Given the description of an element on the screen output the (x, y) to click on. 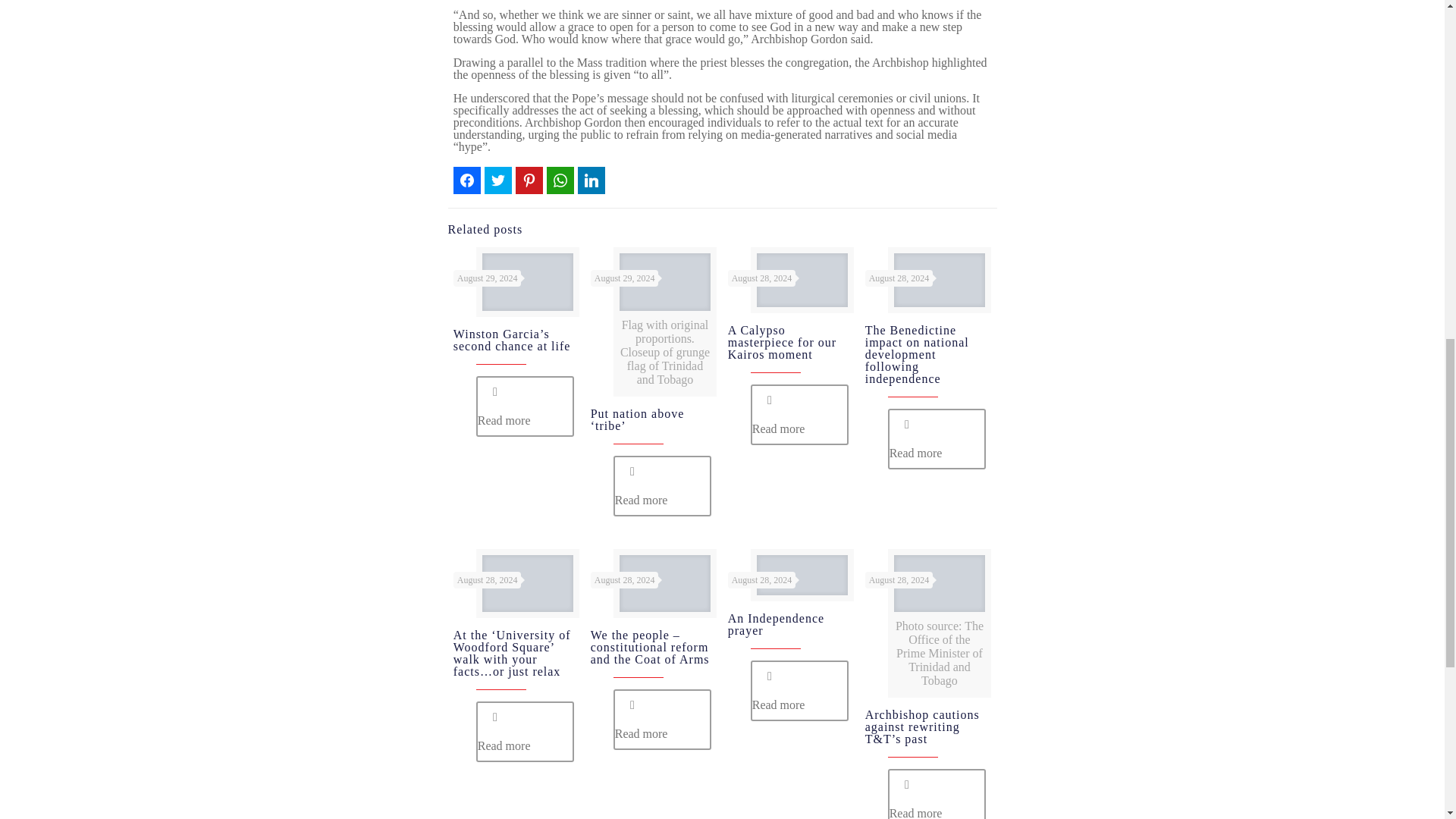
Share on WhatsApp (560, 180)
Share on Twitter (498, 180)
Share on Pinterest (529, 180)
Share on Facebook (466, 180)
Share on LinkedIn (591, 180)
